Given the description of an element on the screen output the (x, y) to click on. 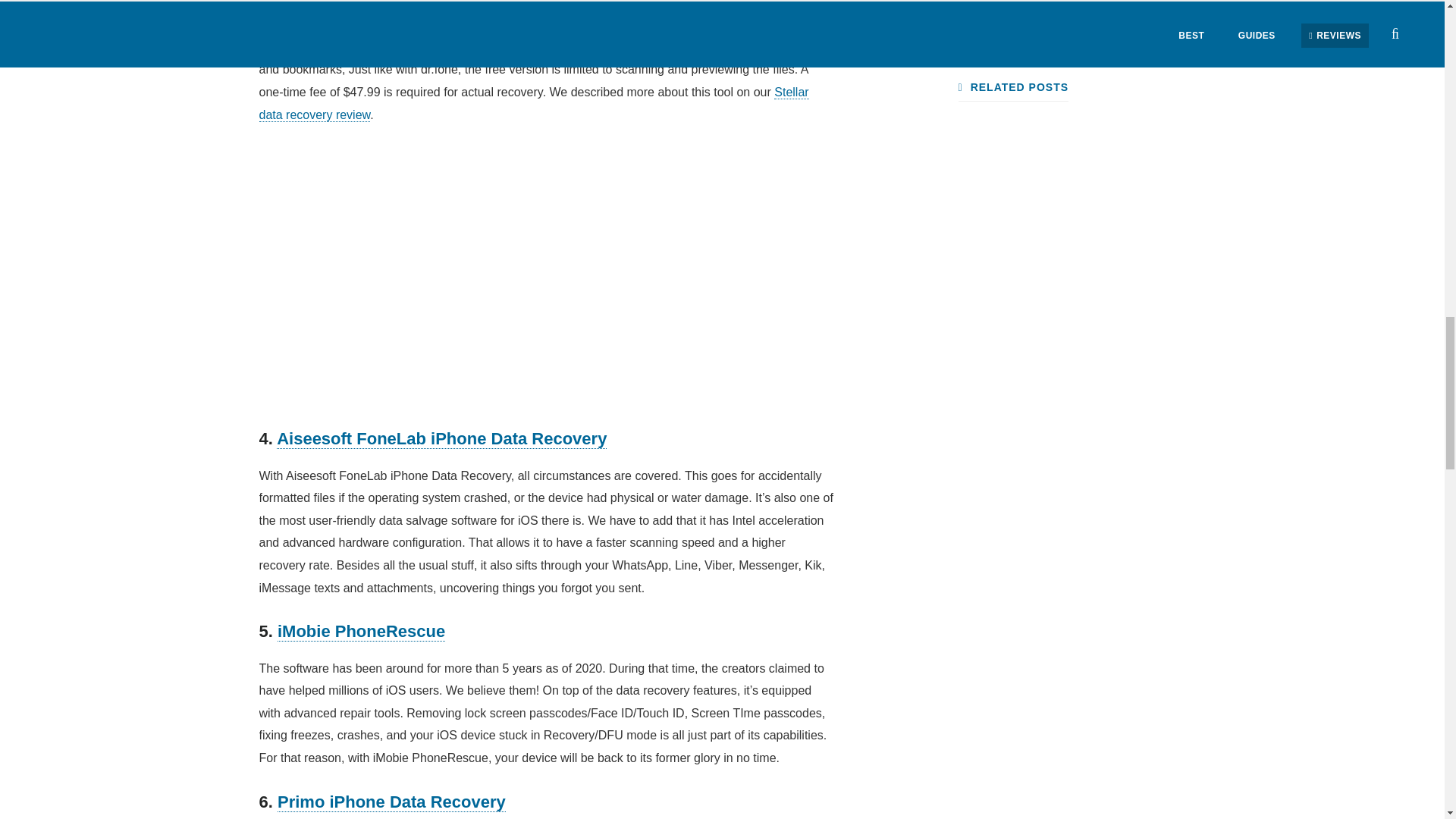
Stellar data recovery review (534, 103)
Primo iPhone Data Recovery (391, 801)
iMobie PhoneRescue (361, 631)
Aiseesoft FoneLab iPhone Data Recovery (441, 438)
